Given the description of an element on the screen output the (x, y) to click on. 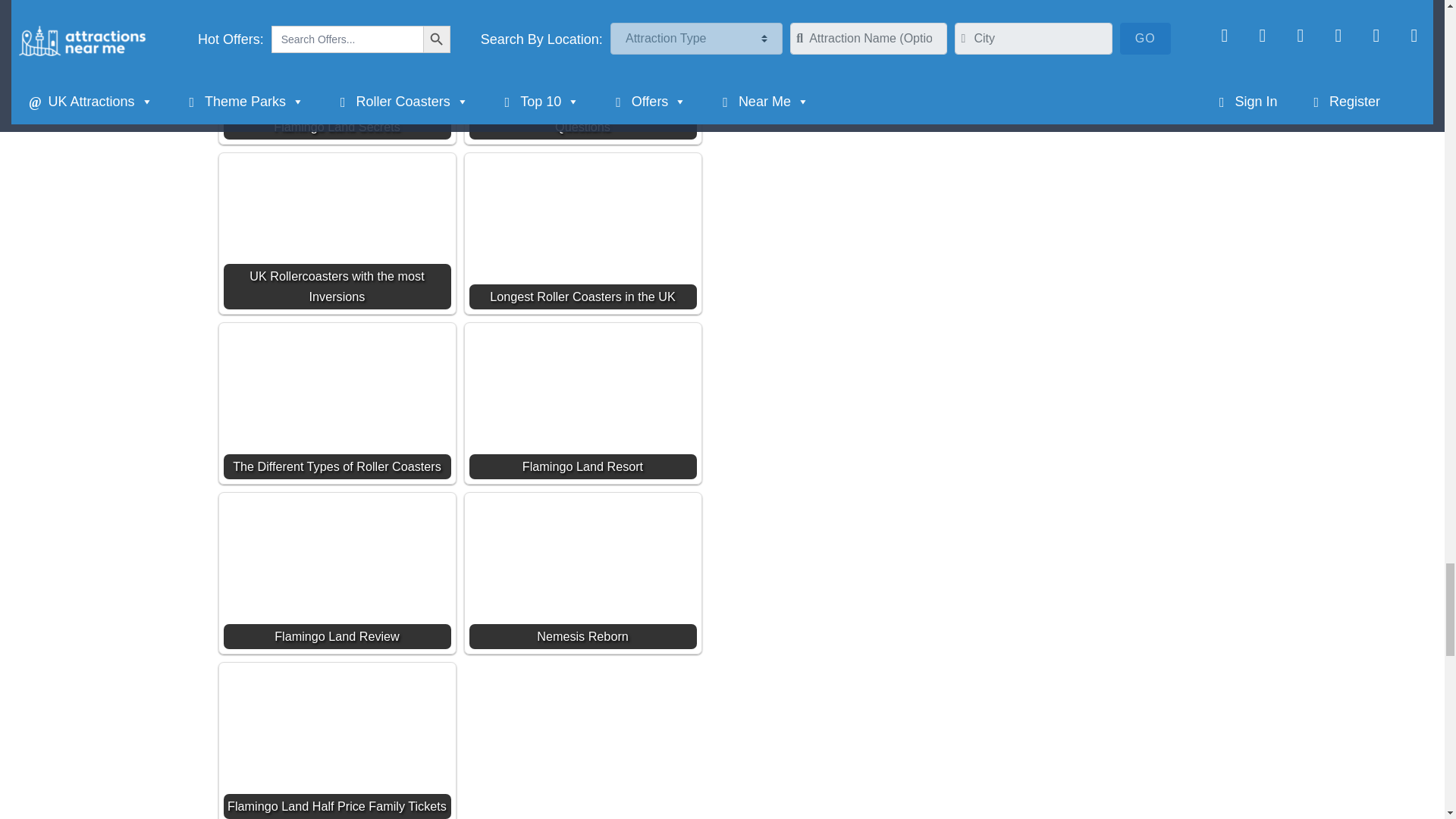
UK Rollercoasters with the most Inversions (335, 232)
Roller Coasters Frequently Asked Questions (581, 62)
Flamingo Land Secrets (335, 62)
